Given the description of an element on the screen output the (x, y) to click on. 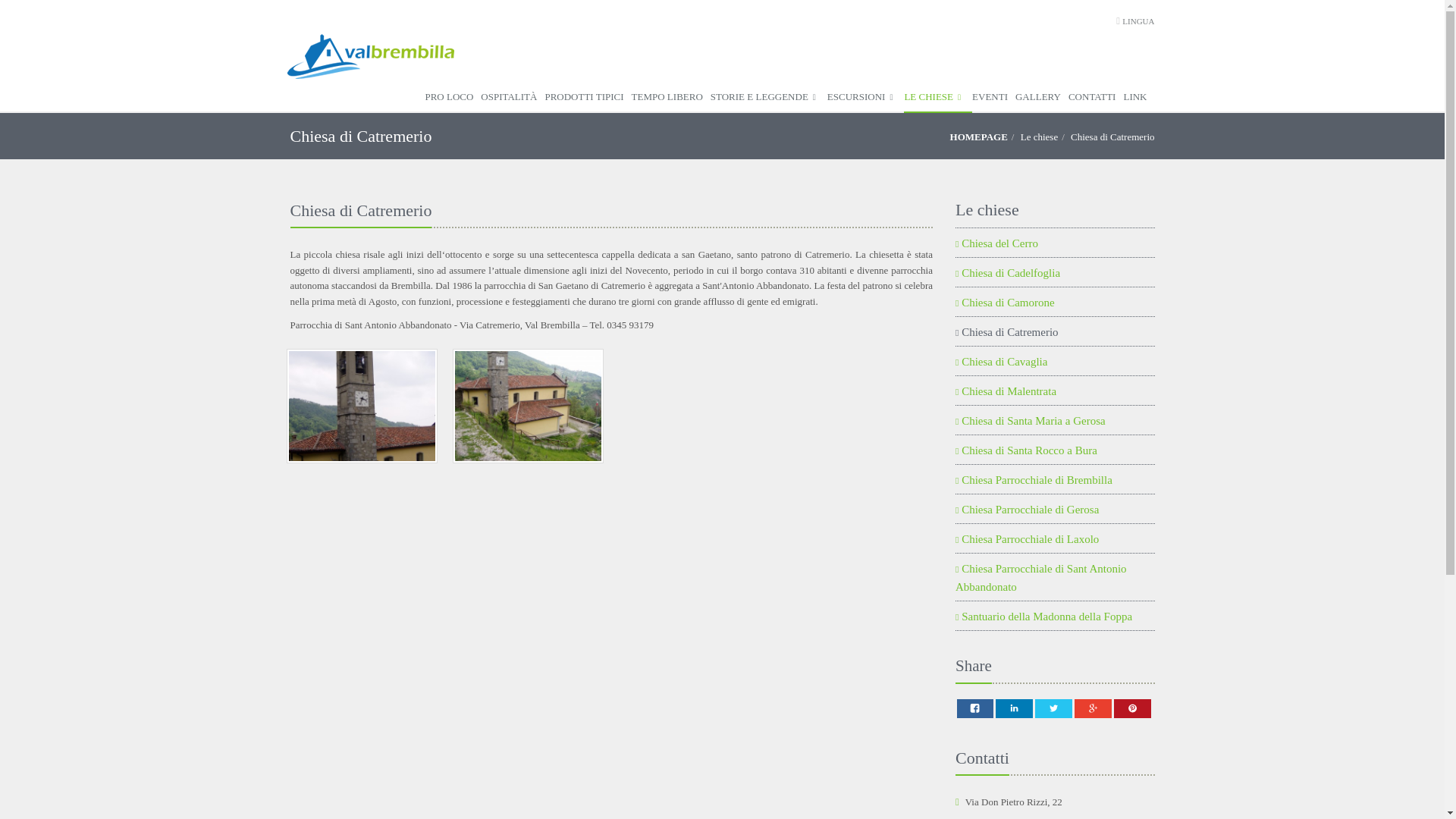
HOMEPAGE (978, 136)
TEMPO LIBERO (670, 97)
LINGUA (1138, 20)
GALLERY (1041, 97)
EVENTI (993, 97)
LE CHIESE (938, 97)
Le chiese (1039, 136)
PRO LOCO (452, 97)
ESCURSIONI (865, 97)
STORIE E LEGGENDE (768, 97)
